Given the description of an element on the screen output the (x, y) to click on. 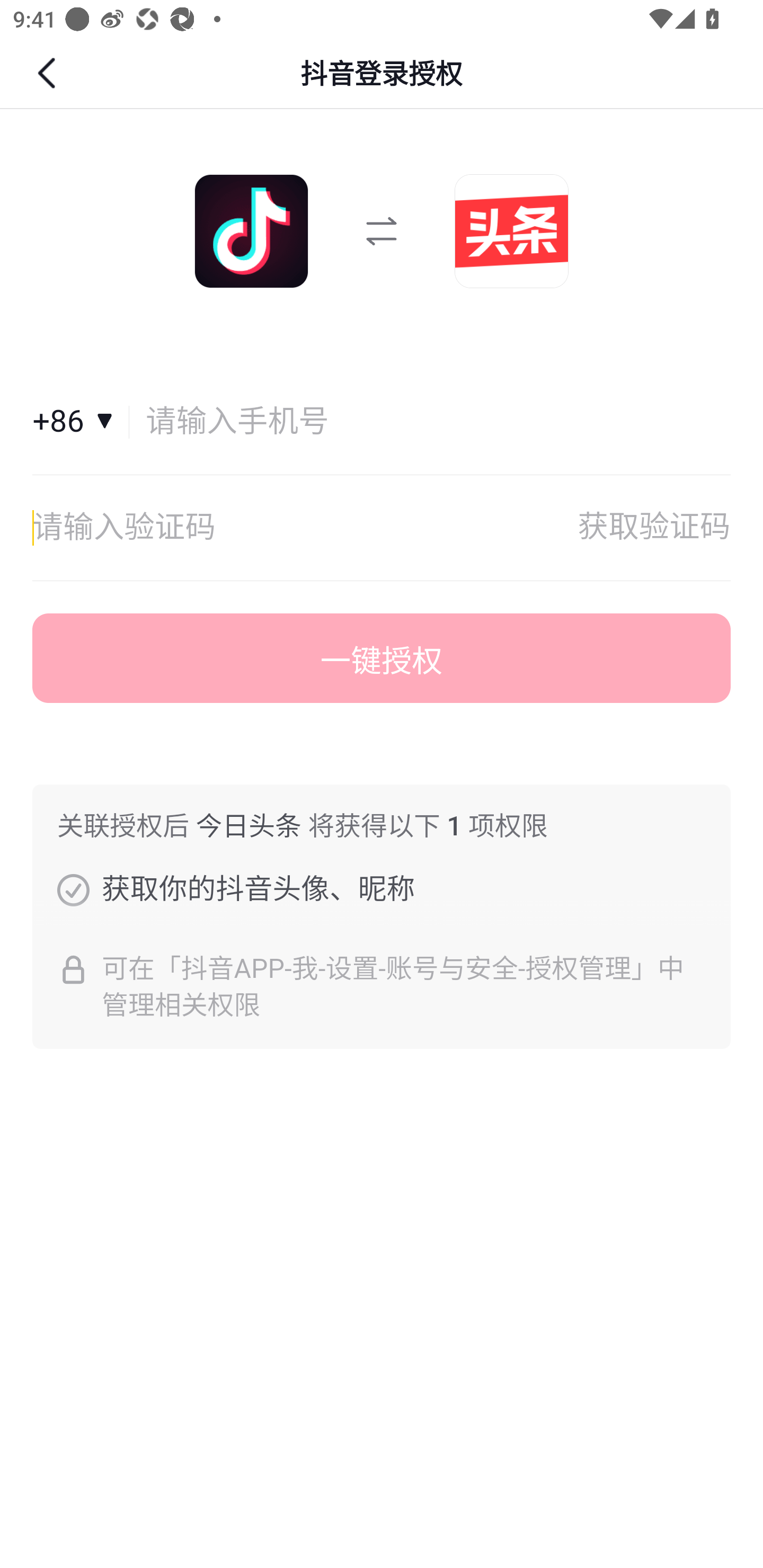
返回 (49, 72)
国家和地区+86 (81, 421)
获取验证码 (653, 527)
一键授权 (381, 658)
获取你的抖音头像、昵称 (72, 889)
